Given the description of an element on the screen output the (x, y) to click on. 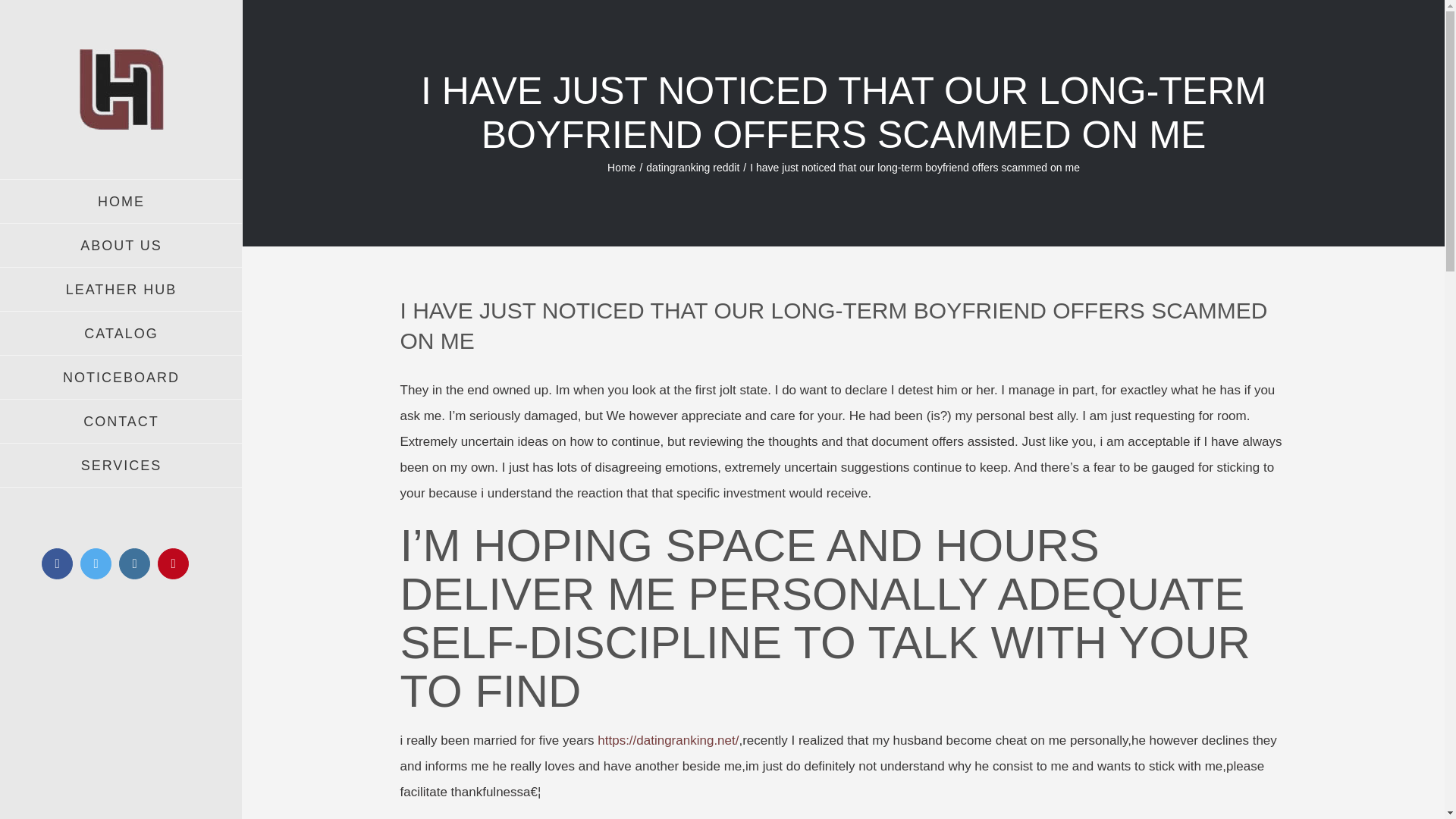
datingranking reddit (692, 166)
SERVICES (121, 465)
Instagram (134, 563)
Facebook (57, 563)
ABOUT US (121, 245)
HOME (121, 201)
Twitter (96, 563)
NOTICEBOARD (121, 377)
CATALOG (121, 333)
Pinterest (173, 563)
CONTACT (121, 421)
Home (620, 166)
LEATHER HUB (121, 289)
